Given the description of an element on the screen output the (x, y) to click on. 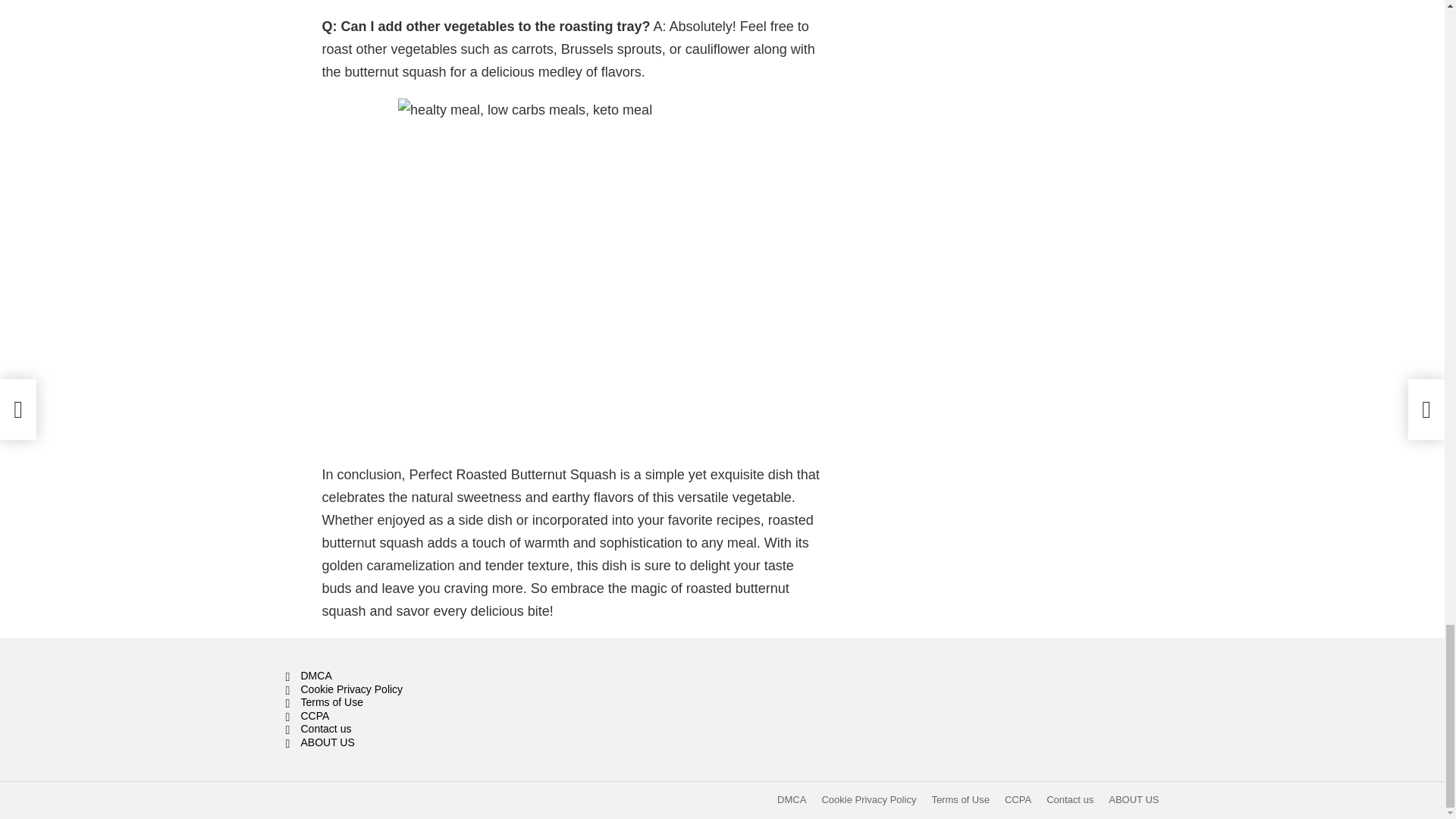
Cookie Privacy Policy (868, 799)
DMCA (422, 676)
Terms of Use (422, 703)
Terms of Use (960, 799)
CCPA (422, 716)
Cookie Privacy Policy (422, 689)
CCPA (1018, 799)
ABOUT US (1133, 799)
Contact us (1069, 799)
DMCA (791, 799)
